Given the description of an element on the screen output the (x, y) to click on. 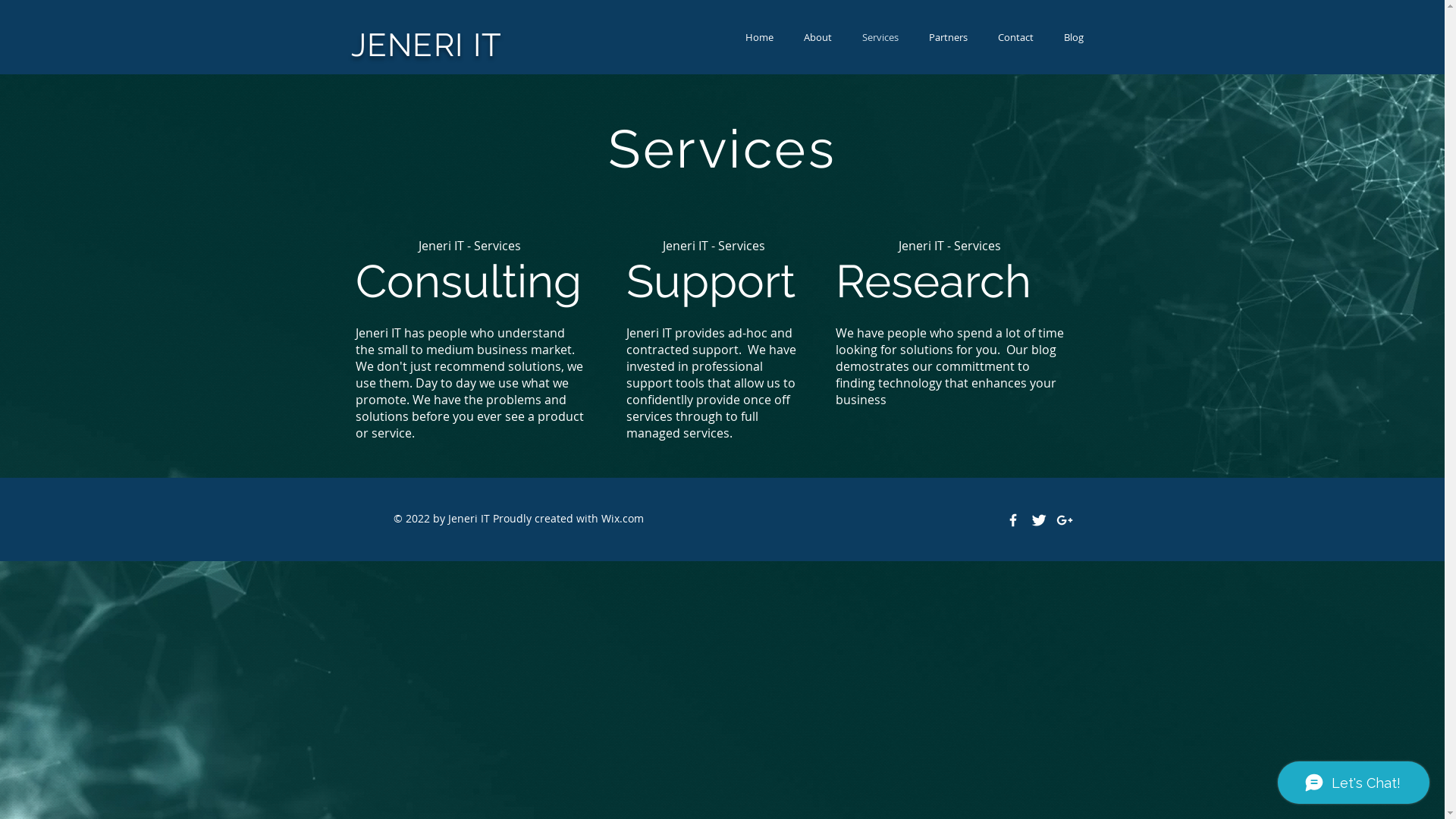
Partners Element type: text (947, 37)
About Element type: text (817, 37)
Services Element type: text (879, 37)
Contact Element type: text (1015, 37)
Home Element type: text (758, 37)
Wix.com Element type: text (621, 518)
Blog Element type: text (1073, 37)
